Given the description of an element on the screen output the (x, y) to click on. 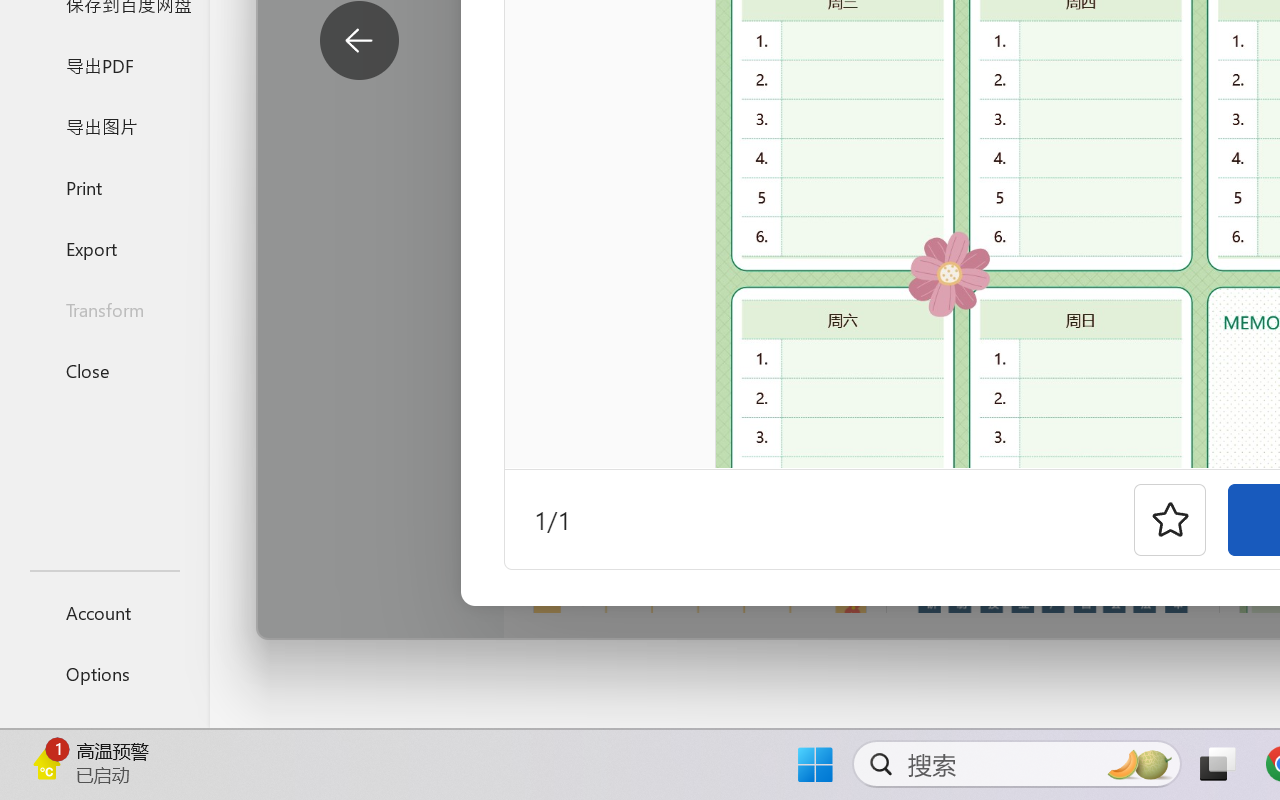
Account (104, 612)
Options (104, 673)
Export (104, 248)
Print (104, 186)
Transform (104, 309)
